Given the description of an element on the screen output the (x, y) to click on. 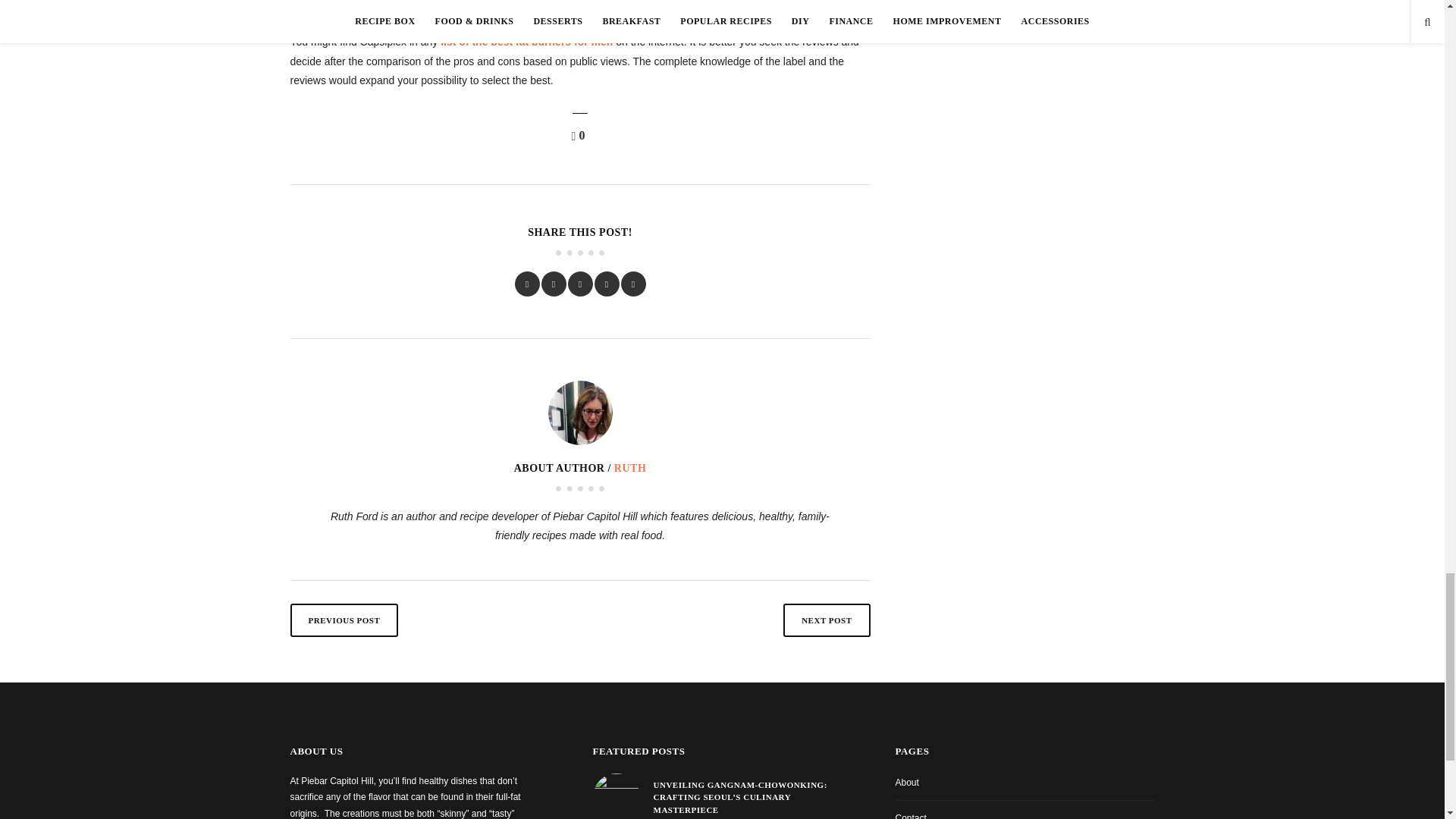
NEXT POST (826, 620)
RUTH (630, 468)
 0 (580, 135)
Like (580, 135)
Posts by Ruth (630, 468)
PREVIOUS POST (343, 620)
list of the best fat burners for men (526, 41)
